Given the description of an element on the screen output the (x, y) to click on. 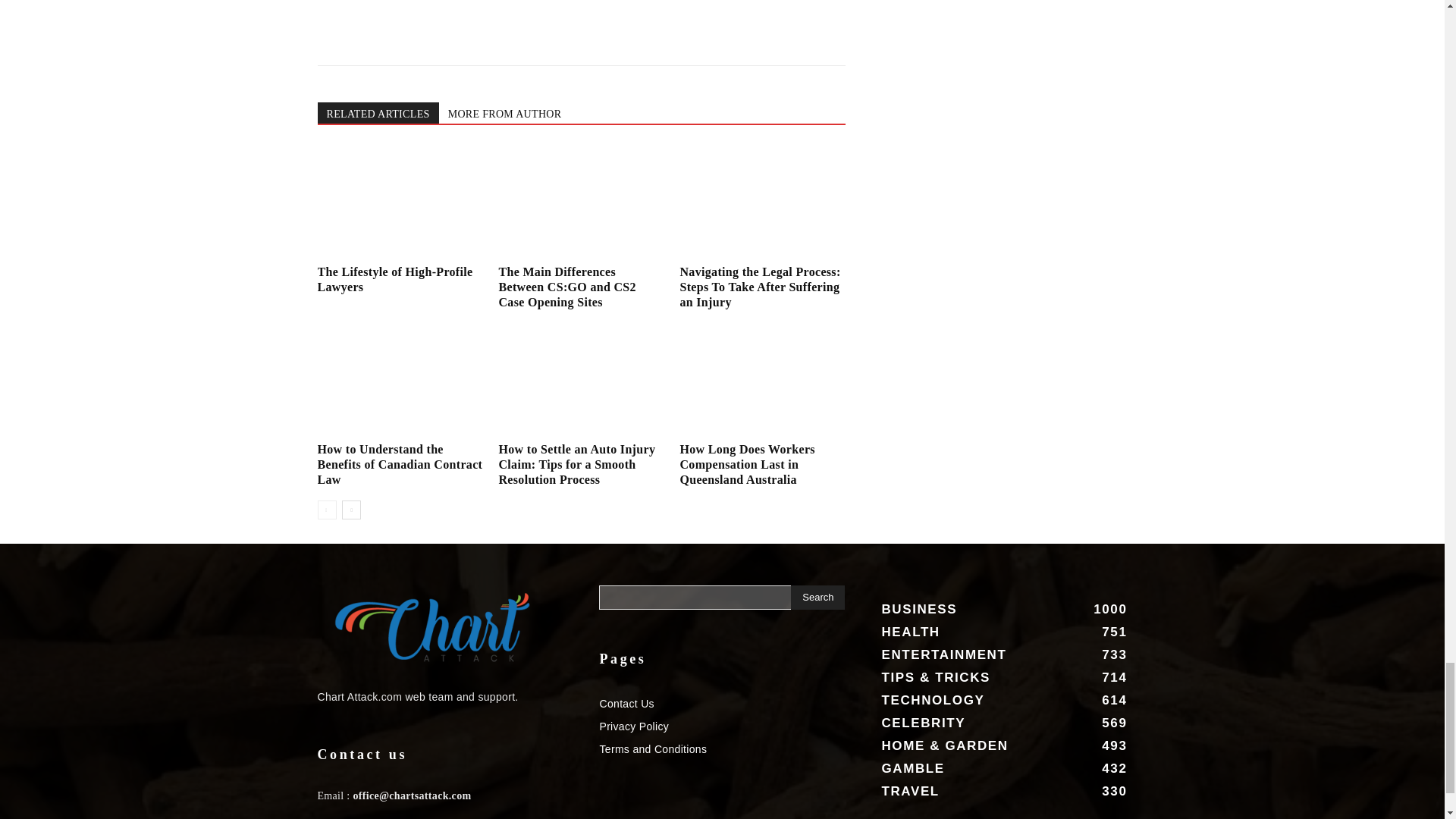
The Lifestyle of High-Profile Lawyers (399, 202)
The Lifestyle of High-Profile Lawyers (394, 279)
Search (817, 597)
